Given the description of an element on the screen output the (x, y) to click on. 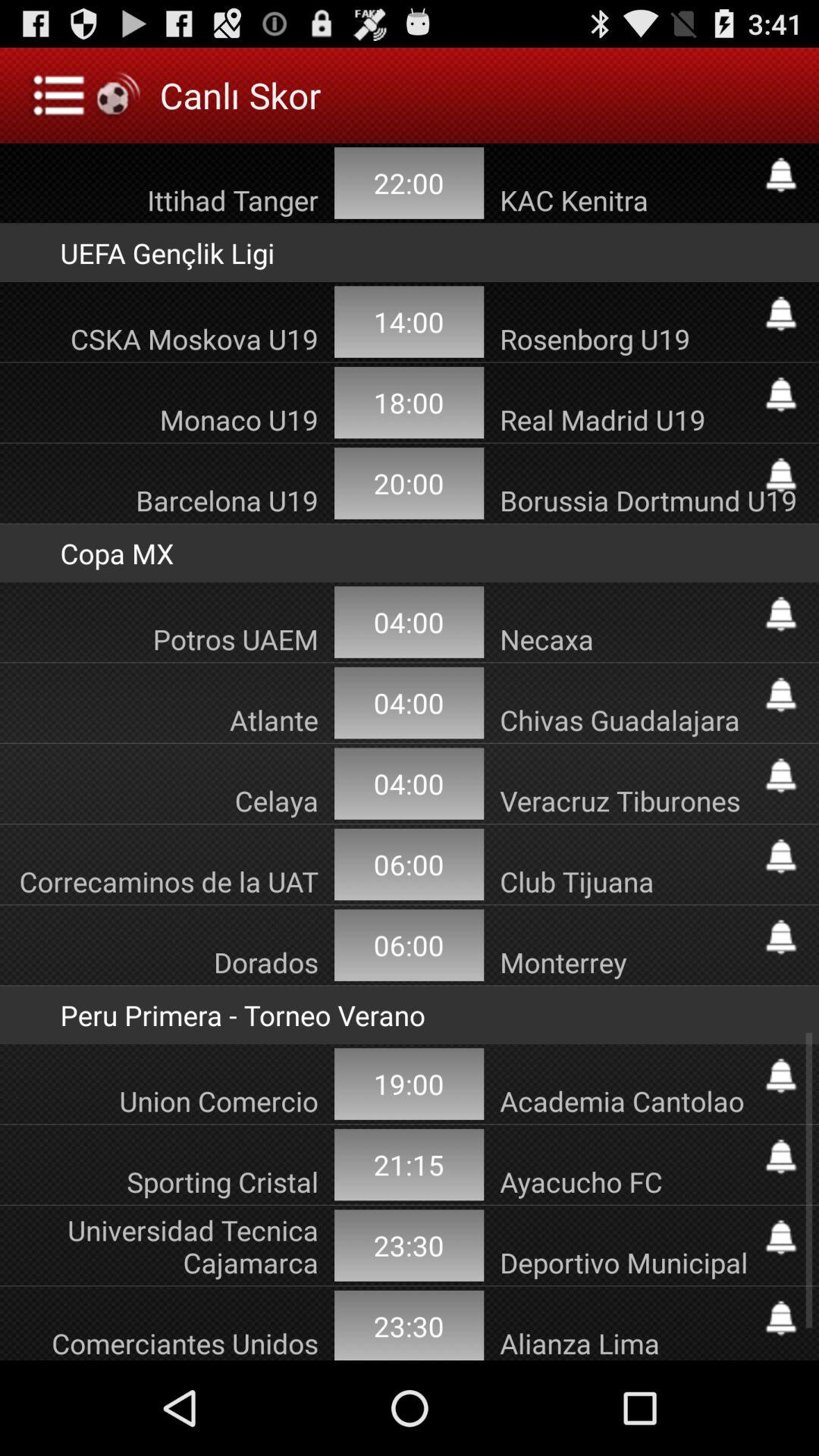
see notification (780, 1075)
